Given the description of an element on the screen output the (x, y) to click on. 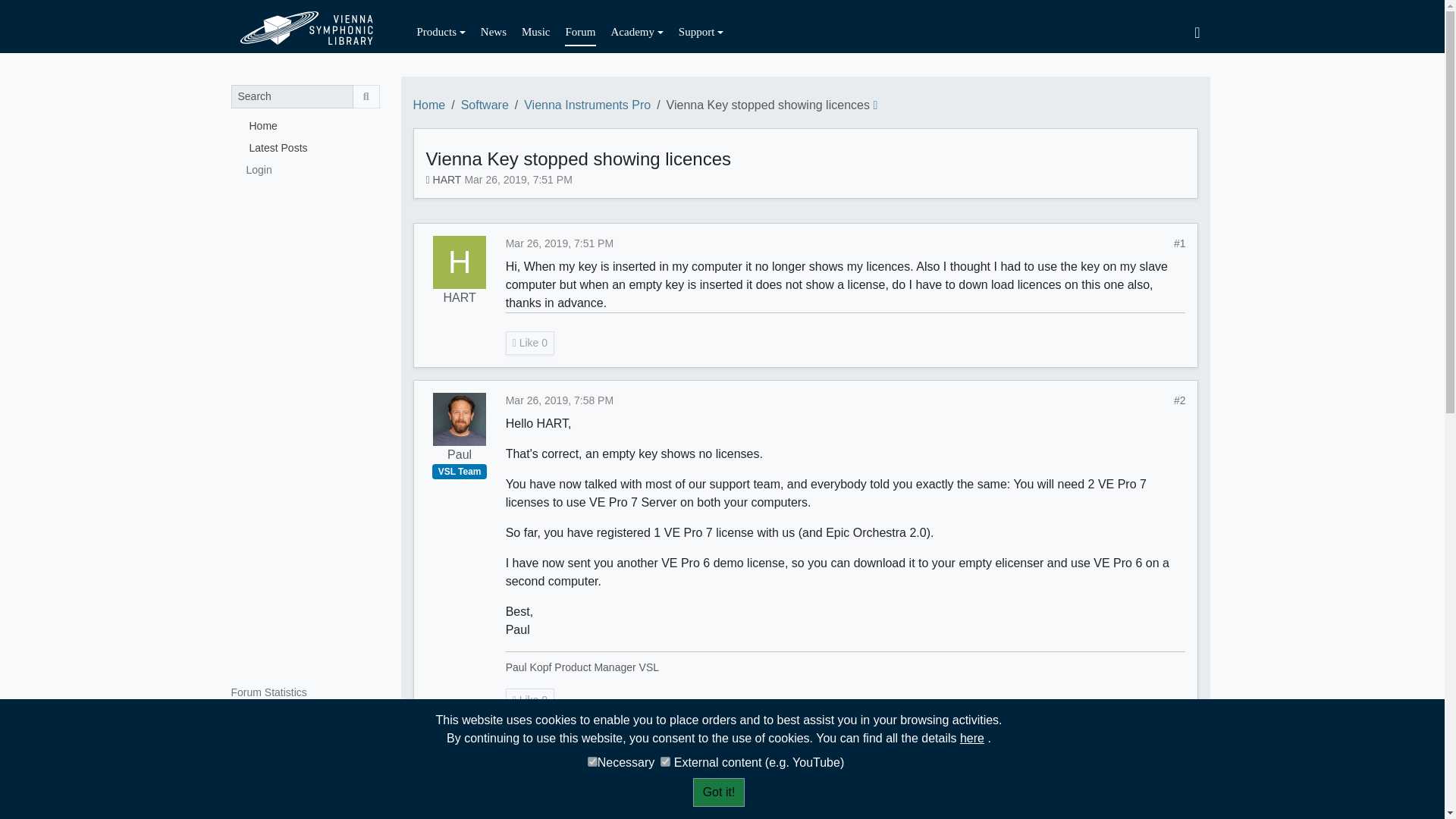
Mar 26, 2019, 7:51 PM (518, 179)
HART (459, 298)
Academy (637, 32)
8 (665, 761)
HART (459, 262)
Mar 26, 2019, 7:51 PM (558, 243)
Paul (458, 454)
Products (441, 32)
Music (535, 32)
News (493, 32)
Paul (459, 419)
4 (592, 761)
HART (446, 179)
Forum (579, 32)
Latest Posts (304, 147)
